Given the description of an element on the screen output the (x, y) to click on. 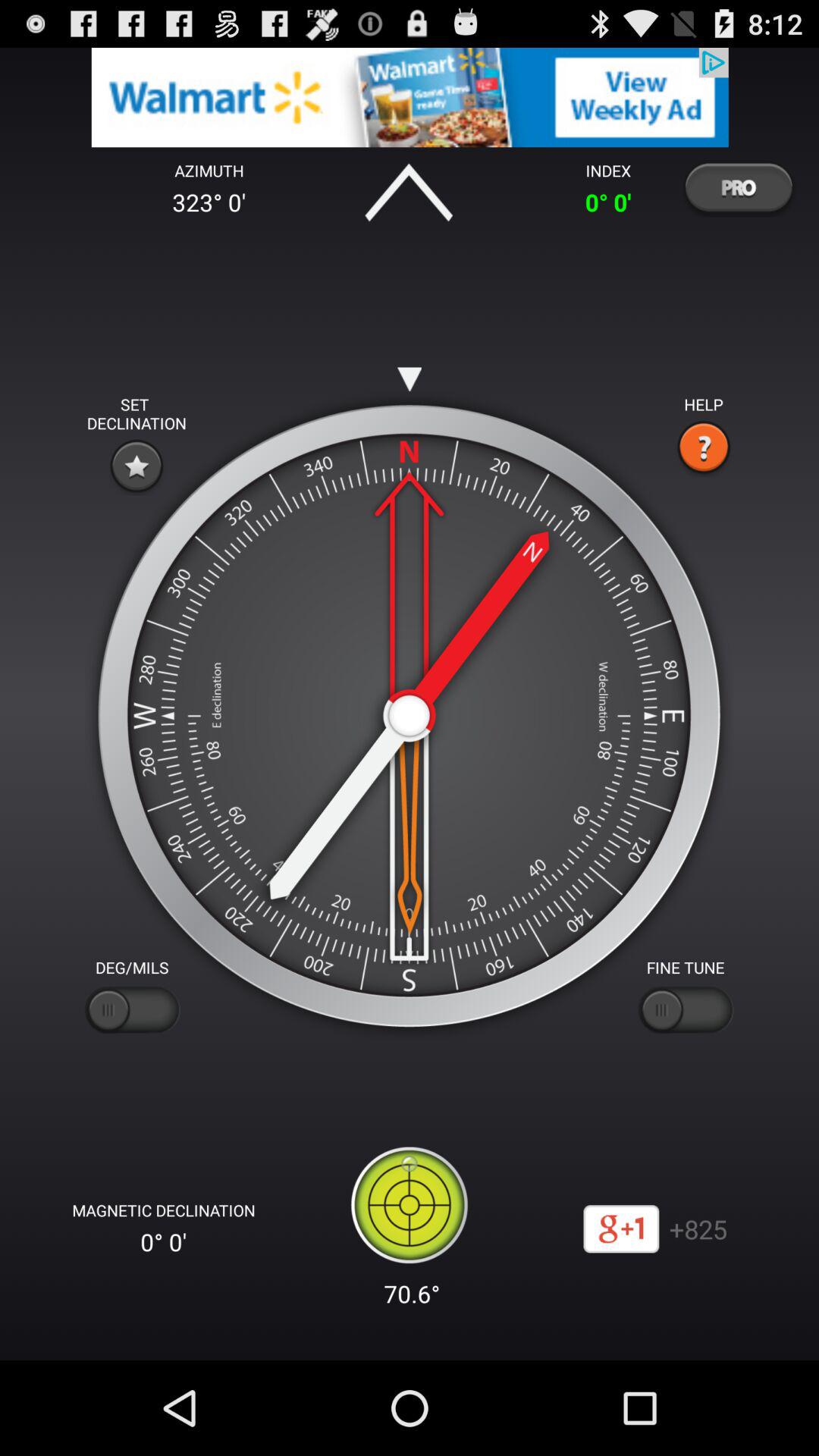
more version (737, 187)
